Given the description of an element on the screen output the (x, y) to click on. 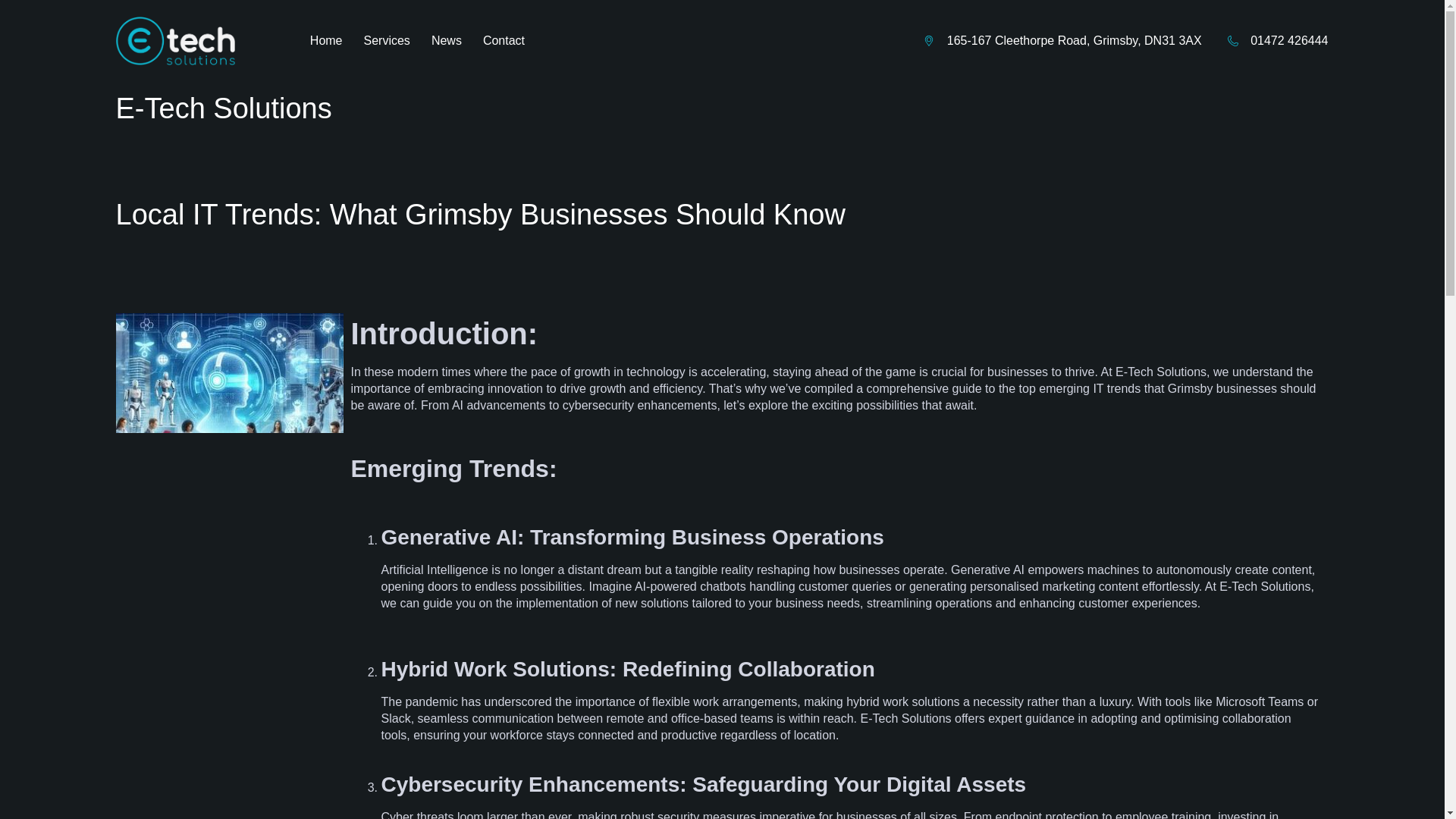
E-Tech Solutions (223, 108)
